Given the description of an element on the screen output the (x, y) to click on. 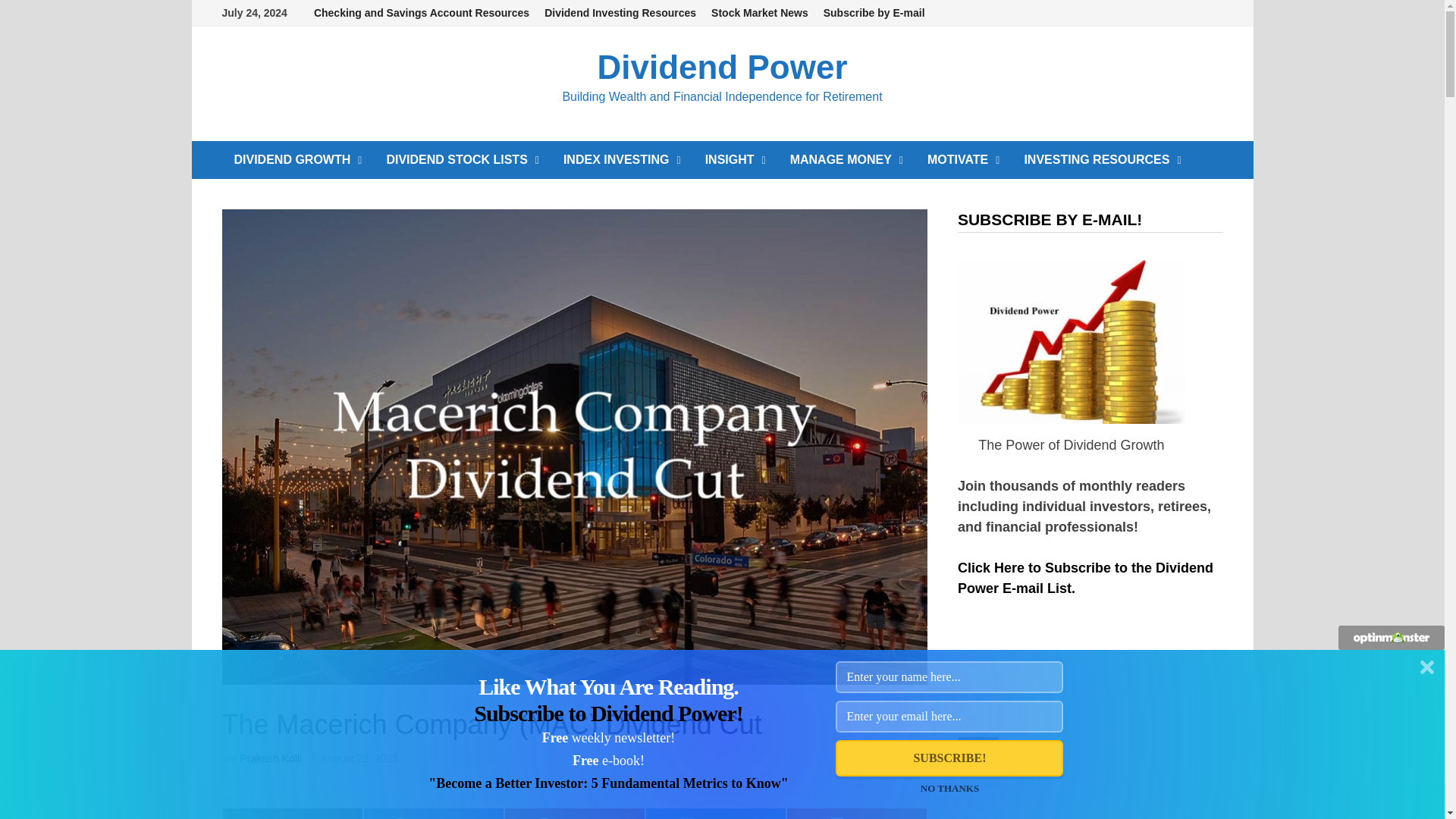
Dividend Investing Resources (620, 13)
Subscribe by E-mail (874, 13)
Dividend Power (721, 66)
DIVIDEND STOCK LISTS (462, 159)
INDEX INVESTING (622, 159)
DIVIDEND GROWTH (297, 159)
INSIGHT (735, 159)
3rd party ad content (721, 785)
Stock Market News (759, 13)
Checking and Savings Account Resources (421, 13)
3rd party ad content (1071, 731)
